Given the description of an element on the screen output the (x, y) to click on. 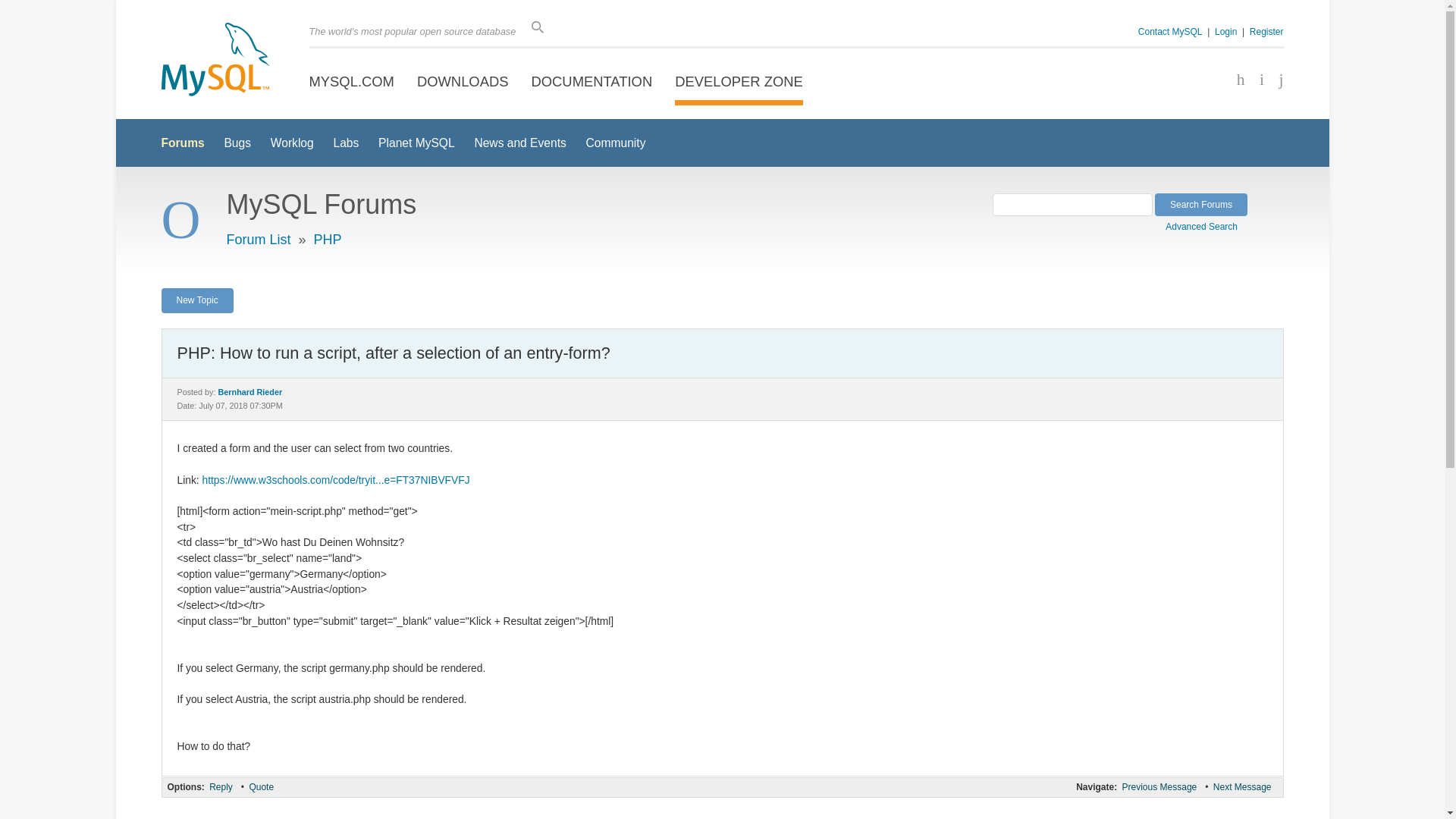
New Topic (196, 300)
DEVELOPER ZONE (739, 81)
Quote (261, 786)
Bernhard Rieder (250, 391)
Labs (346, 142)
Search Forums (1200, 204)
DOCUMENTATION (591, 81)
Register (1266, 31)
MYSQL.COM (351, 81)
Next Message (1242, 786)
Previous Message (1159, 786)
Reply (220, 786)
DOWNLOADS (462, 81)
Forum List (257, 239)
Join us on Facebook (1234, 80)
